Given the description of an element on the screen output the (x, y) to click on. 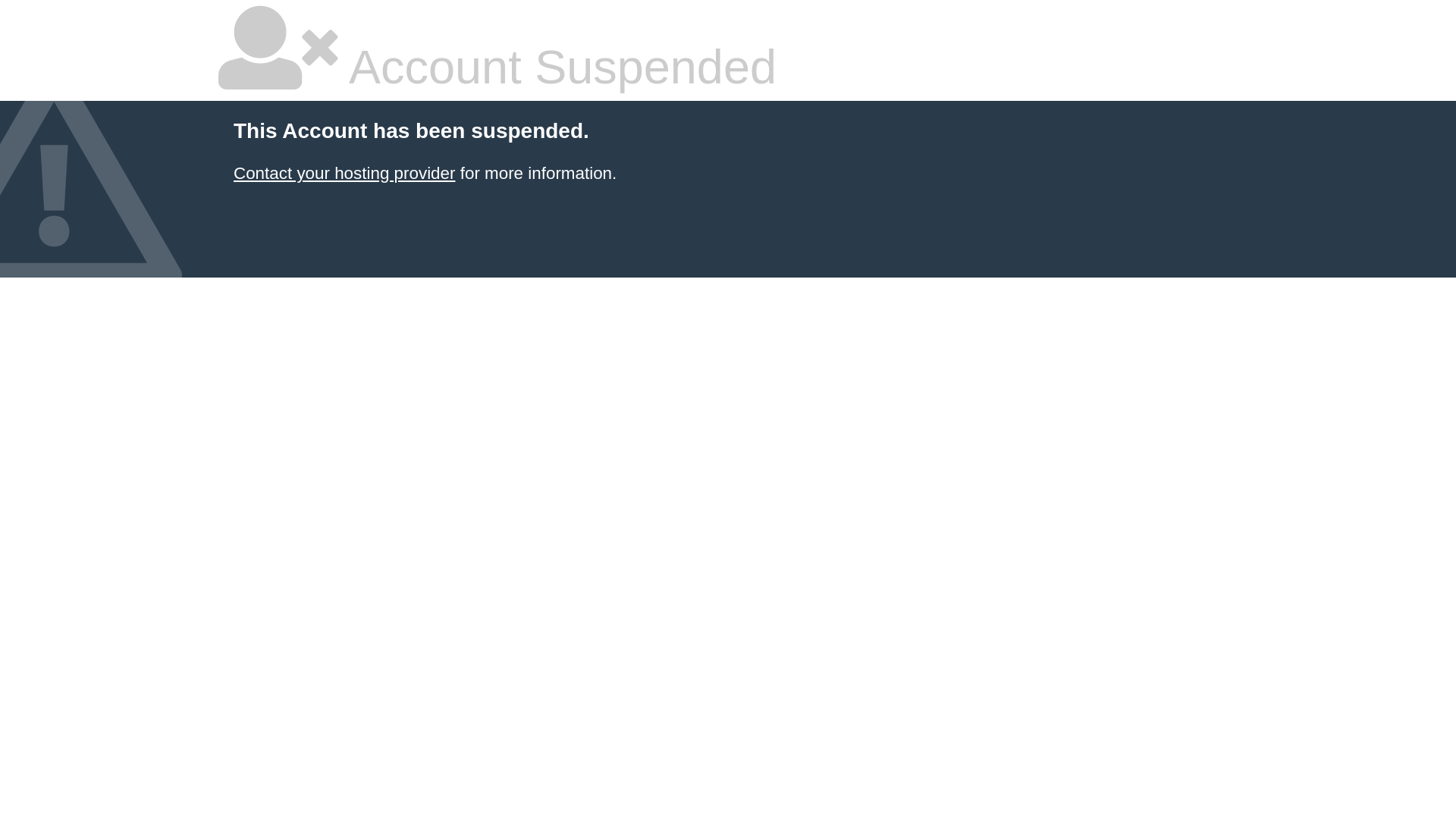
Contact your hosting provider Element type: text (344, 172)
